Given the description of an element on the screen output the (x, y) to click on. 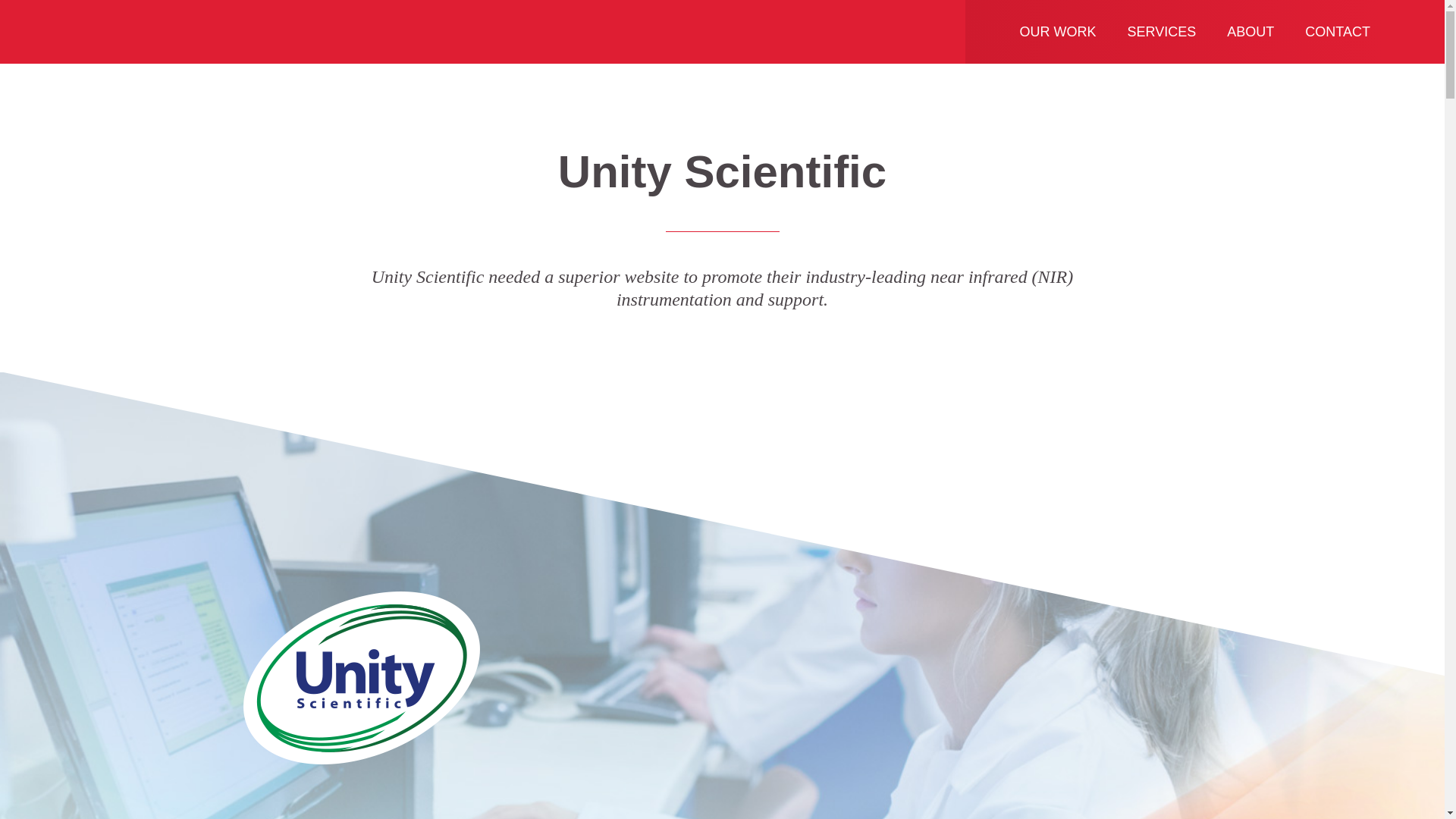
CONTACT (1337, 31)
OUR WORK (1057, 31)
Antistatic Branding and Website Design Dayton Ohio (155, 31)
Antistatic (155, 31)
SERVICES (1161, 31)
ABOUT (1249, 31)
